Given the description of an element on the screen output the (x, y) to click on. 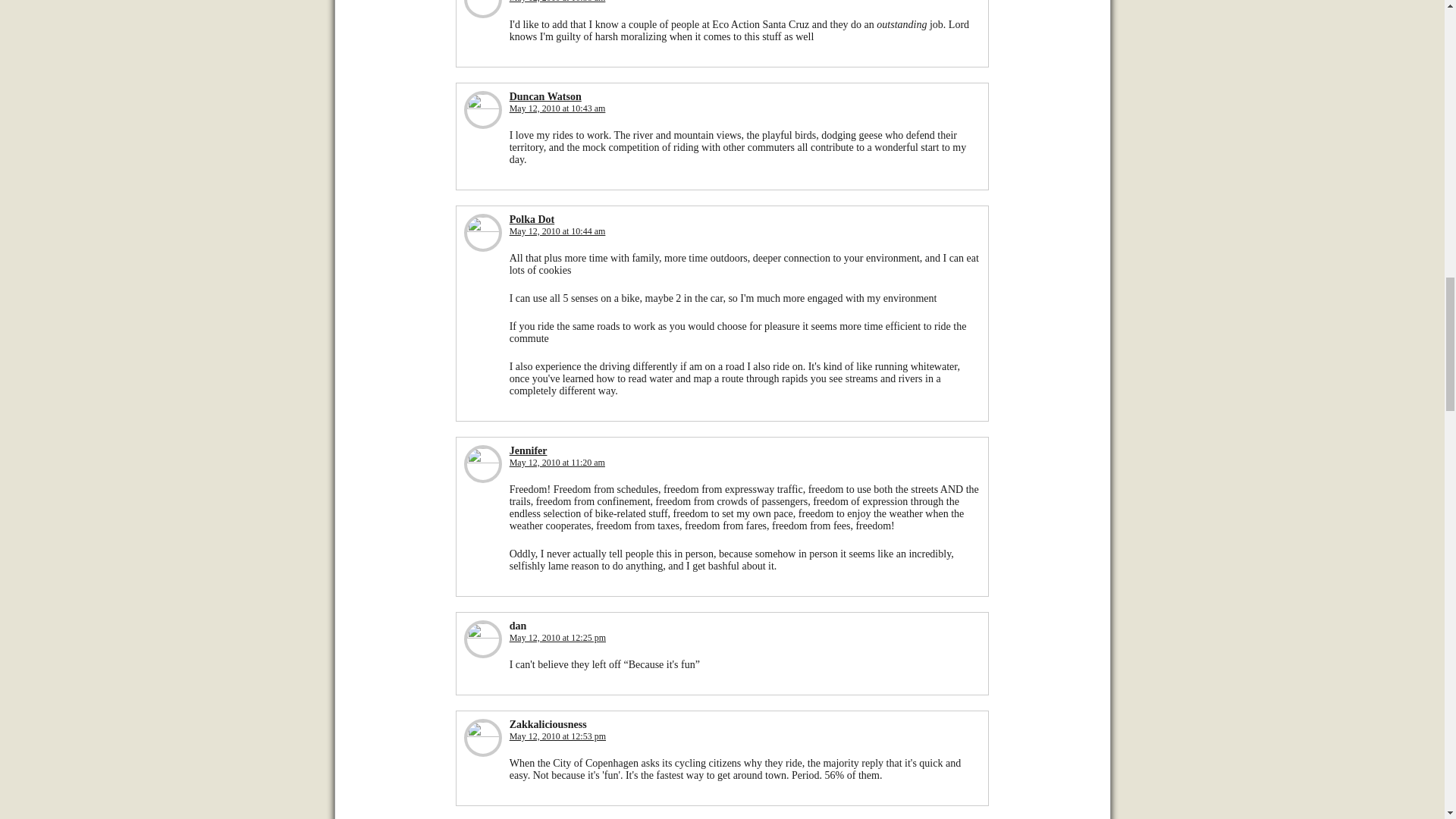
Duncan Watson (544, 96)
May 12, 2010 at 10:43 am (557, 108)
May 12, 2010 at 10:38 am (557, 1)
